Given the description of an element on the screen output the (x, y) to click on. 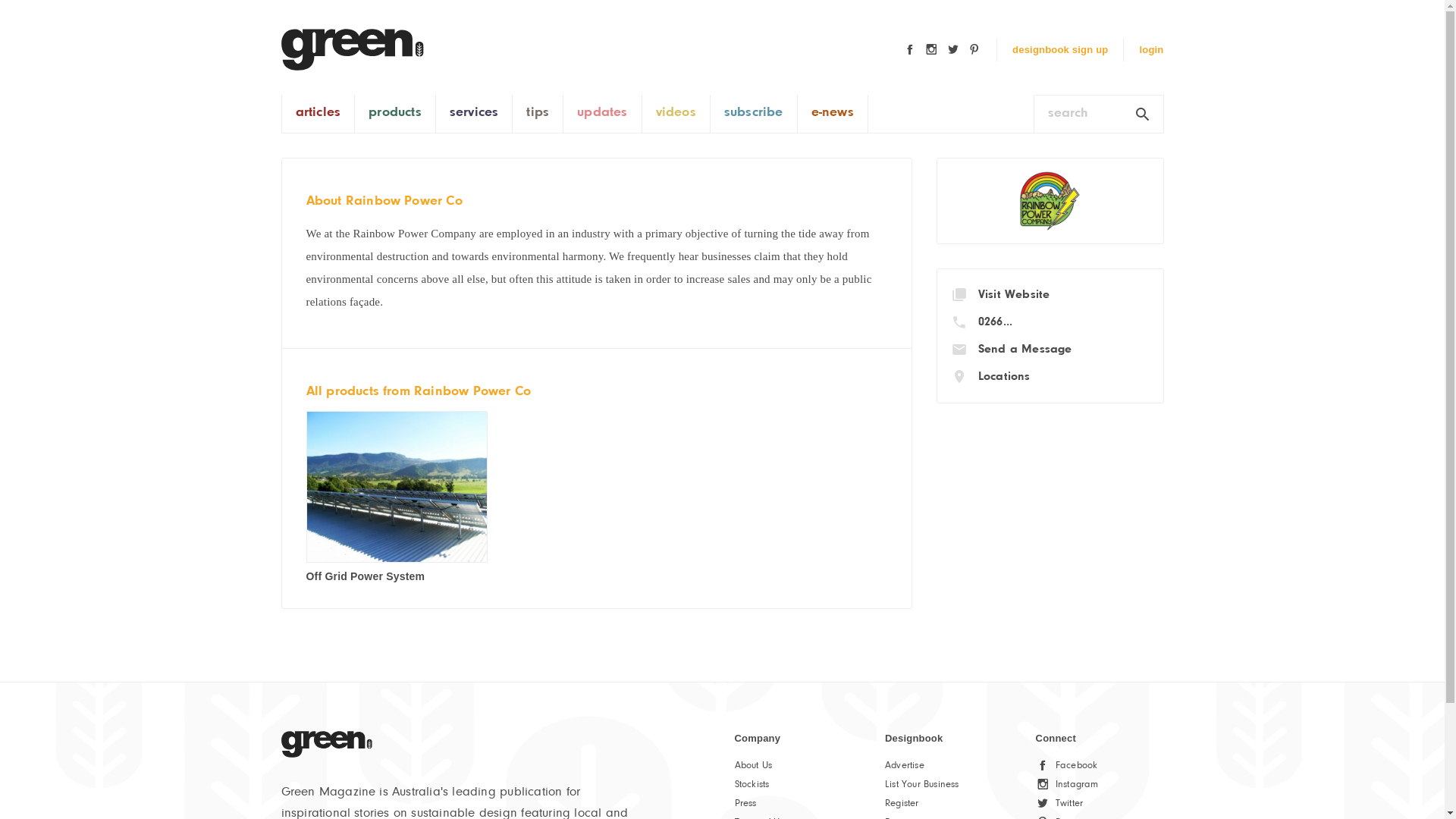
tips Element type: text (537, 113)
green magazine Element type: text (351, 49)
Advertise Element type: text (904, 765)
e-news Element type: text (832, 113)
About Us Element type: text (752, 765)
subscribe Element type: text (753, 113)
updates Element type: text (602, 113)
Press Element type: text (745, 803)
Instagram Element type: text (1076, 784)
products Element type: text (394, 113)
articles Element type: text (318, 113)
designbook sign up Element type: text (1059, 49)
Locations Element type: text (1004, 376)
login Element type: text (1151, 49)
Stockists Element type: text (751, 784)
Register Element type: text (901, 803)
services Element type: text (473, 113)
Facebook Element type: text (1076, 765)
Twitter Element type: text (1068, 803)
Visit Website Element type: text (1014, 294)
0266... Element type: text (995, 321)
Send a Message Element type: text (1025, 349)
List Your Business Element type: text (921, 784)
videos Element type: text (675, 113)
Off Grid Power System Element type: text (365, 576)
